Given the description of an element on the screen output the (x, y) to click on. 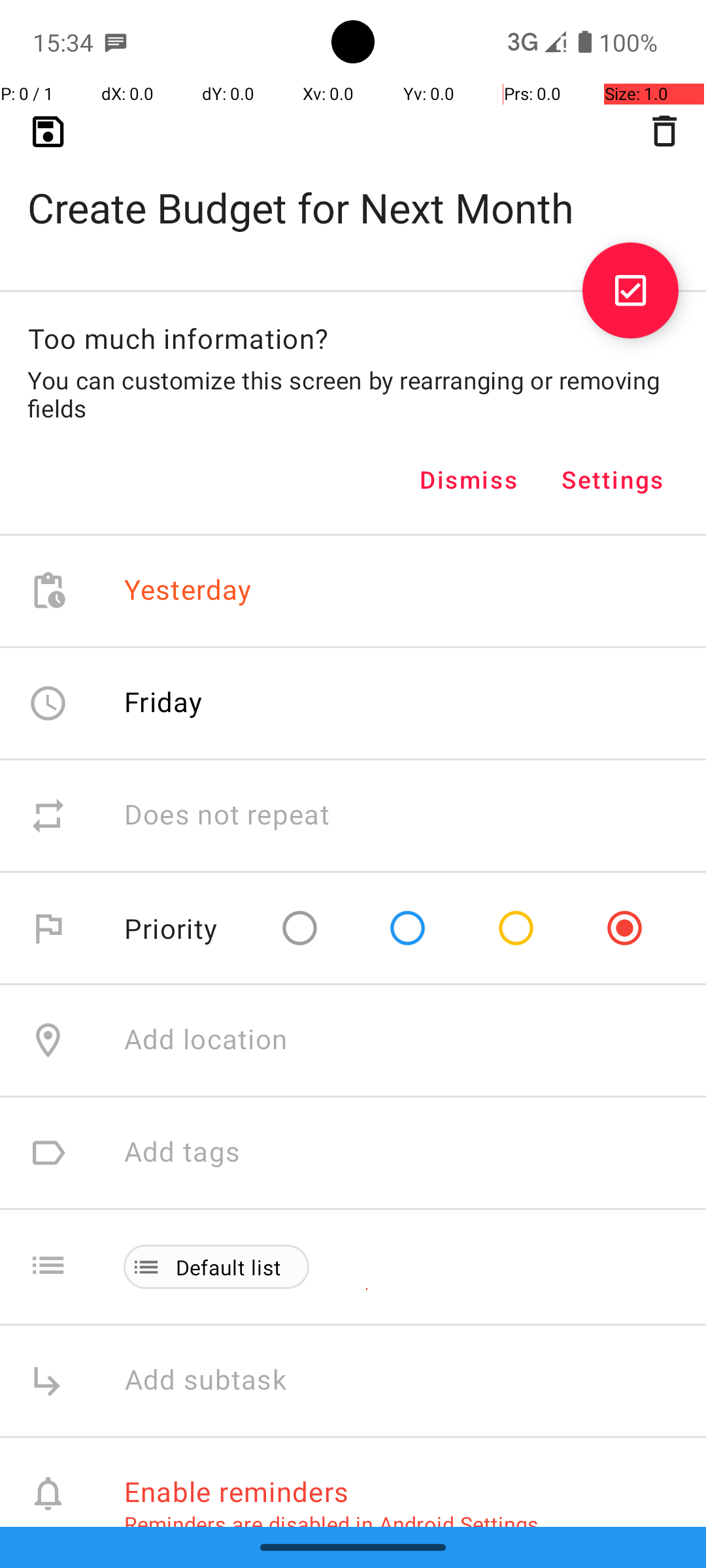
Create Budget for Next Month Element type: android.widget.EditText (353, 186)
